Given the description of an element on the screen output the (x, y) to click on. 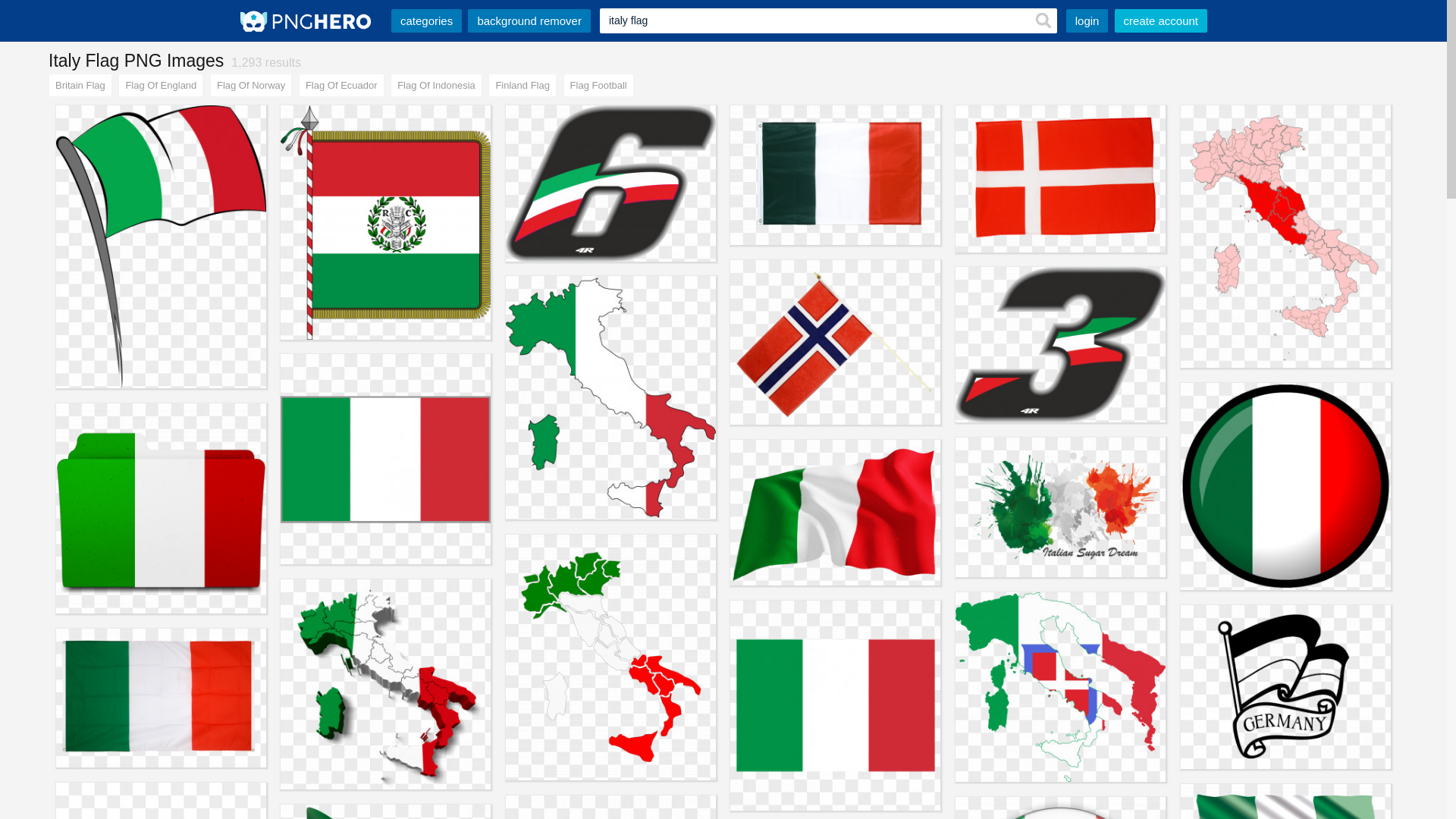
create account Element type: text (1160, 20)
Italy Flag Of Map Clip Art PNG Element type: hover (610, 657)
login Element type: text (1087, 20)
Finland Flag Element type: text (522, 85)
Search! Element type: hover (1043, 20)
Italy Flag Of Racing Flags Number PNG Element type: hover (610, 183)
Flag Of Indonesia Element type: text (436, 85)
Italy Flag Of Image Poster PNG Element type: hover (385, 684)
Italy Flag Kingdom Of Italian Empire Roman PNG Element type: hover (1060, 686)
Italy Flag Of The United States National PNG Element type: hover (835, 705)
Italy Flag Club Penguin Of France PNG Element type: hover (1285, 485)
Flag Of Norway Element type: text (250, 85)
Central Regions Of Italy Flag Map Clip Art PNG Element type: hover (1285, 236)
Italy Flag Of Directory PNG Element type: hover (161, 508)
Britain Flag Element type: text (80, 85)
Flag Of Ecuador Element type: text (341, 85)
Norway Italy Flag Of PNG Element type: hover (835, 342)
Italy Flag Of Kingdom The United States Ireland PNG Element type: hover (385, 459)
Italy Flag Of Stock Photography Royalty-free Clip Art PNG Element type: hover (835, 512)
categories Element type: text (426, 20)
Italy Flag Of France Clip Art PNG Element type: hover (835, 174)
Italy Flag Of Map The United States PNG Element type: hover (610, 397)
Italy Flag Of Number Brand PNG Element type: hover (1060, 344)
background remover Element type: text (528, 20)
Flag Football Element type: text (598, 85)
Italy Flag Of Fahnen Und Flaggen PNG Element type: hover (161, 697)
Italy Flag Of Germany Coloring Book Child PNG Element type: hover (1285, 686)
Italy Flag Of Denmark Croatia PNG Element type: hover (1060, 178)
Italy Flag Of National Illustration PNG Element type: hover (1060, 507)
Flag Of England Element type: text (160, 85)
Italy Flag Of France Clip Art PNG Element type: hover (161, 246)
